Given the description of an element on the screen output the (x, y) to click on. 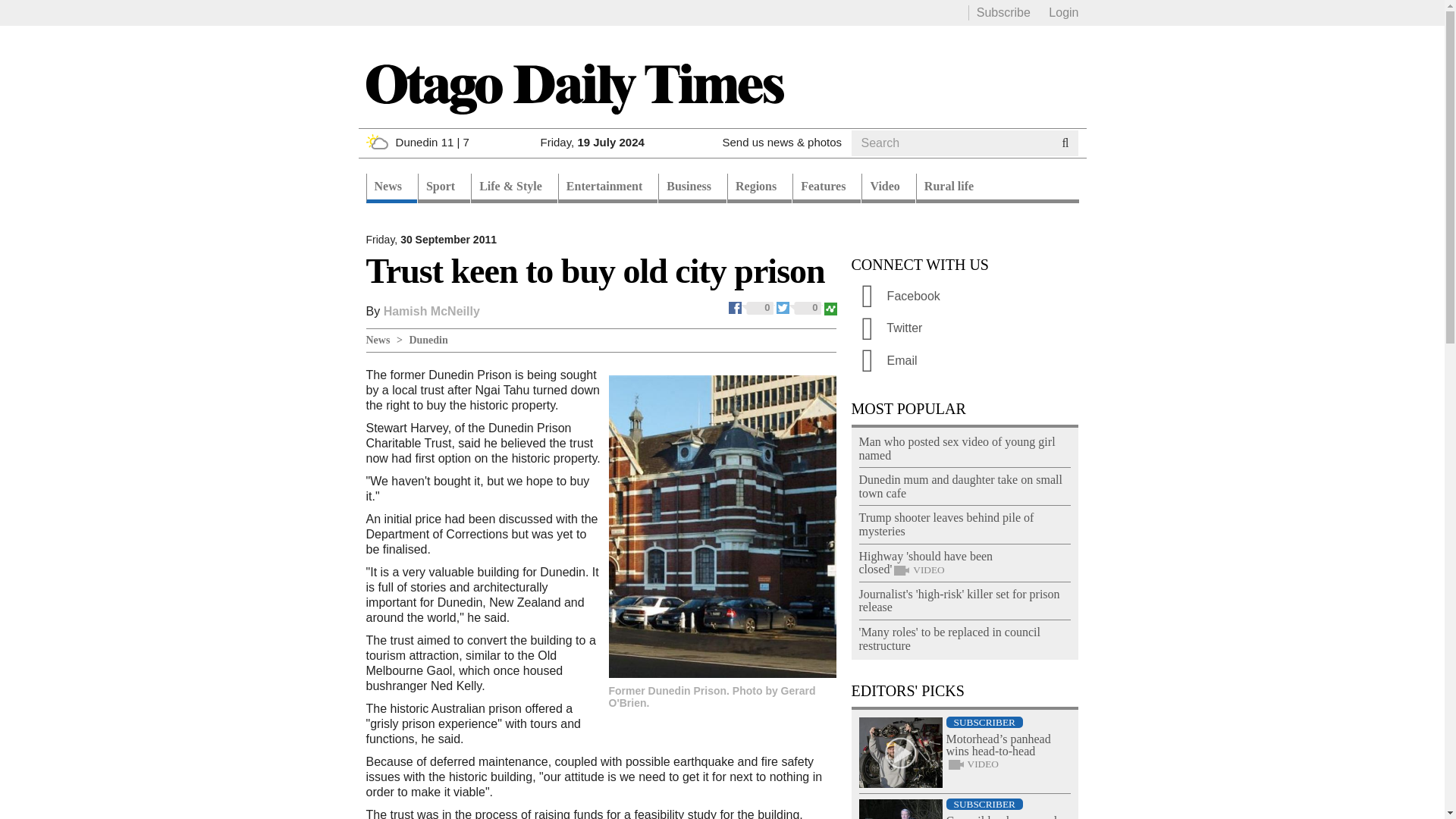
Search (879, 161)
Facebook (752, 306)
Partly cloudy (376, 141)
Enter the terms you wish to search for. (951, 143)
ShareThis (829, 306)
News (390, 188)
Login (1063, 11)
Subscribe (1003, 11)
Sport (443, 188)
Twitter (800, 306)
Home (574, 87)
